Given the description of an element on the screen output the (x, y) to click on. 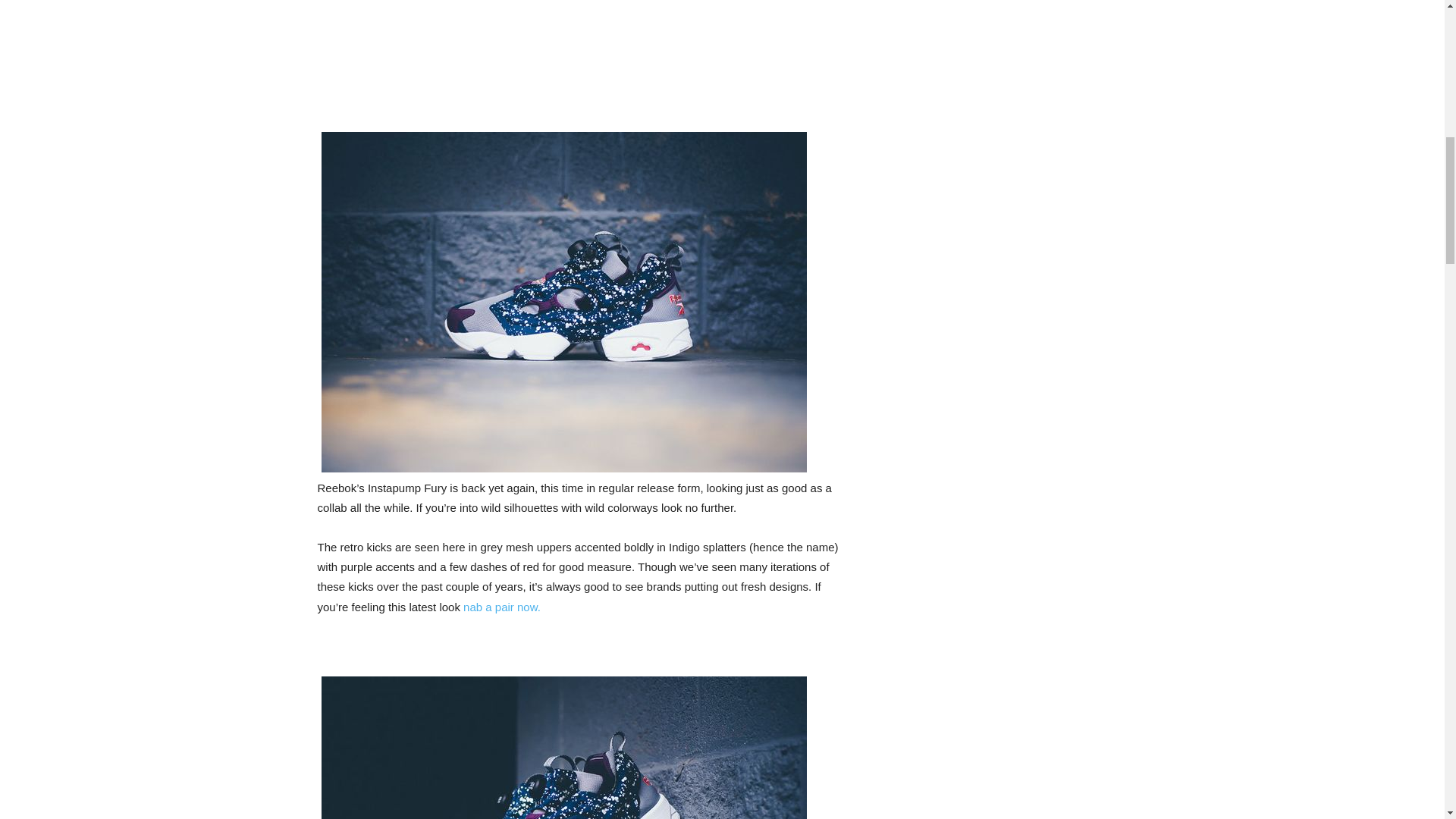
Advertisement (579, 58)
nab a pair now. (501, 606)
